Given the description of an element on the screen output the (x, y) to click on. 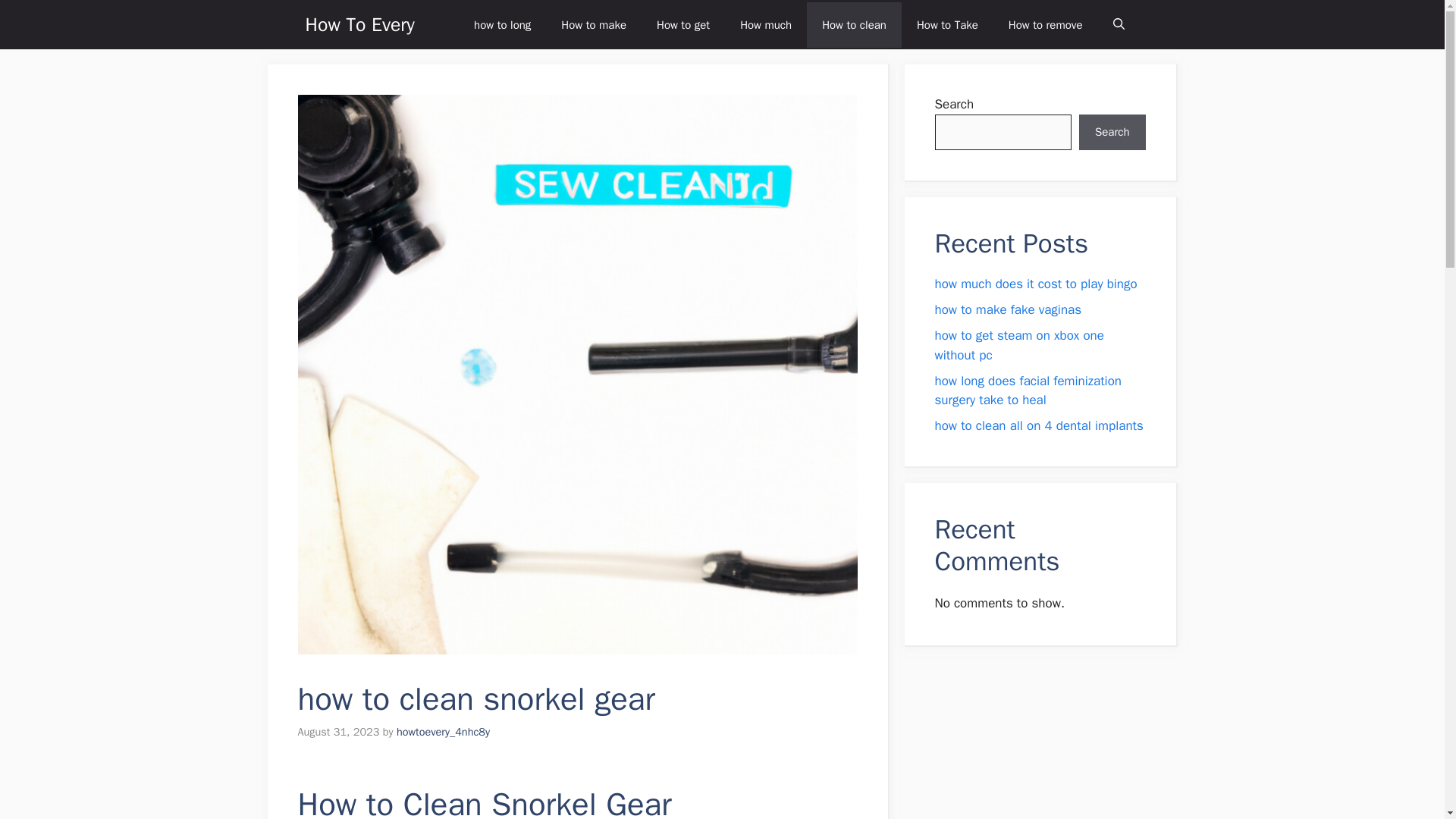
How much (765, 23)
how to clean all on 4 dental implants (1038, 425)
how long does facial feminization surgery take to heal (1027, 390)
How to remove (1044, 23)
How To Every (358, 24)
Search (1111, 131)
How to clean (853, 23)
how much does it cost to play bingo (1035, 283)
How to make (594, 23)
How to get (683, 23)
How to Take (946, 23)
how to long (502, 23)
how to make fake vaginas (1007, 309)
how to get steam on xbox one without pc (1018, 345)
